Given the description of an element on the screen output the (x, y) to click on. 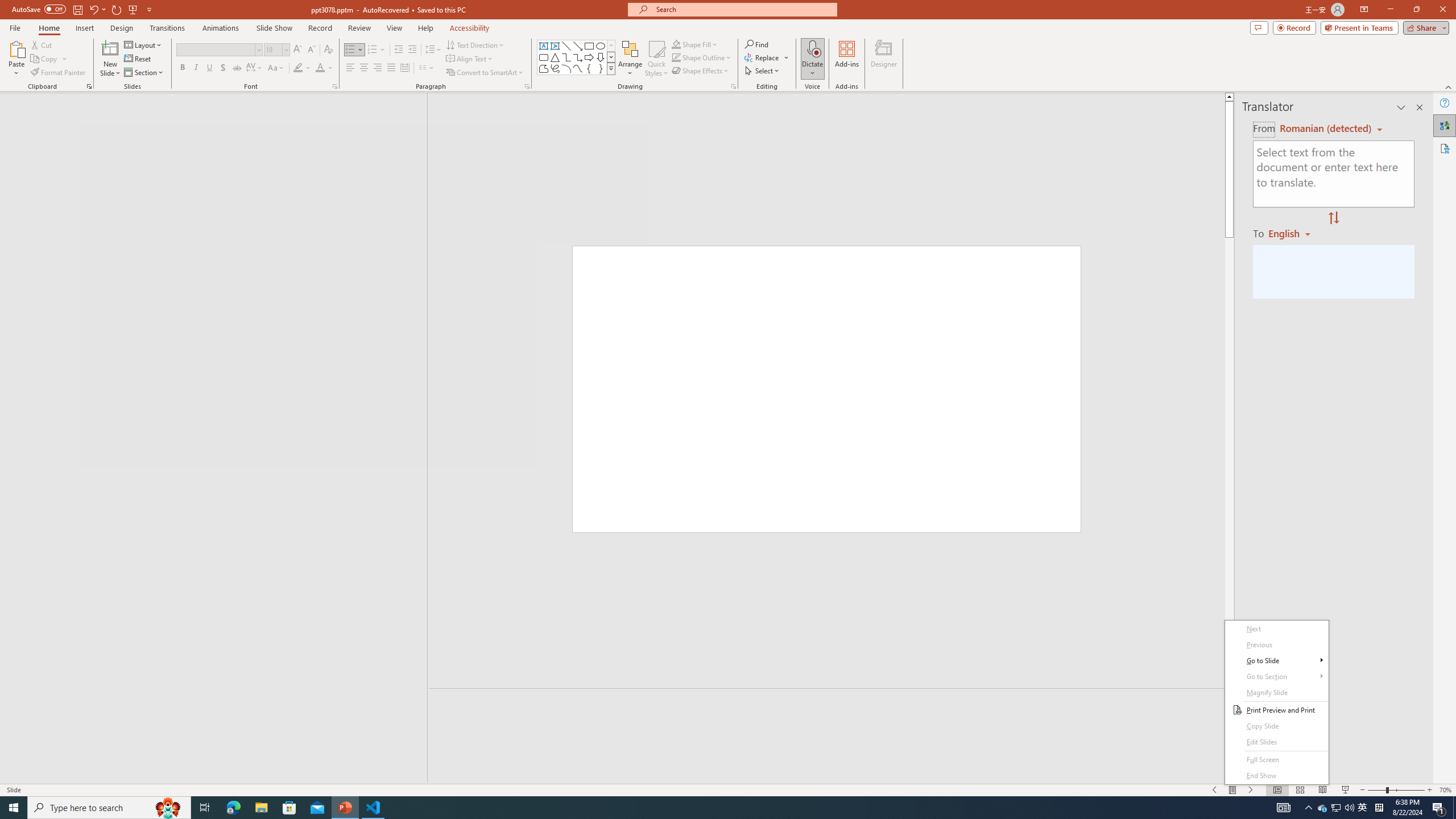
Slide Notes (831, 705)
Print Preview and Print (1276, 710)
Next (1276, 628)
Zoom 70% (1445, 790)
